Given the description of an element on the screen output the (x, y) to click on. 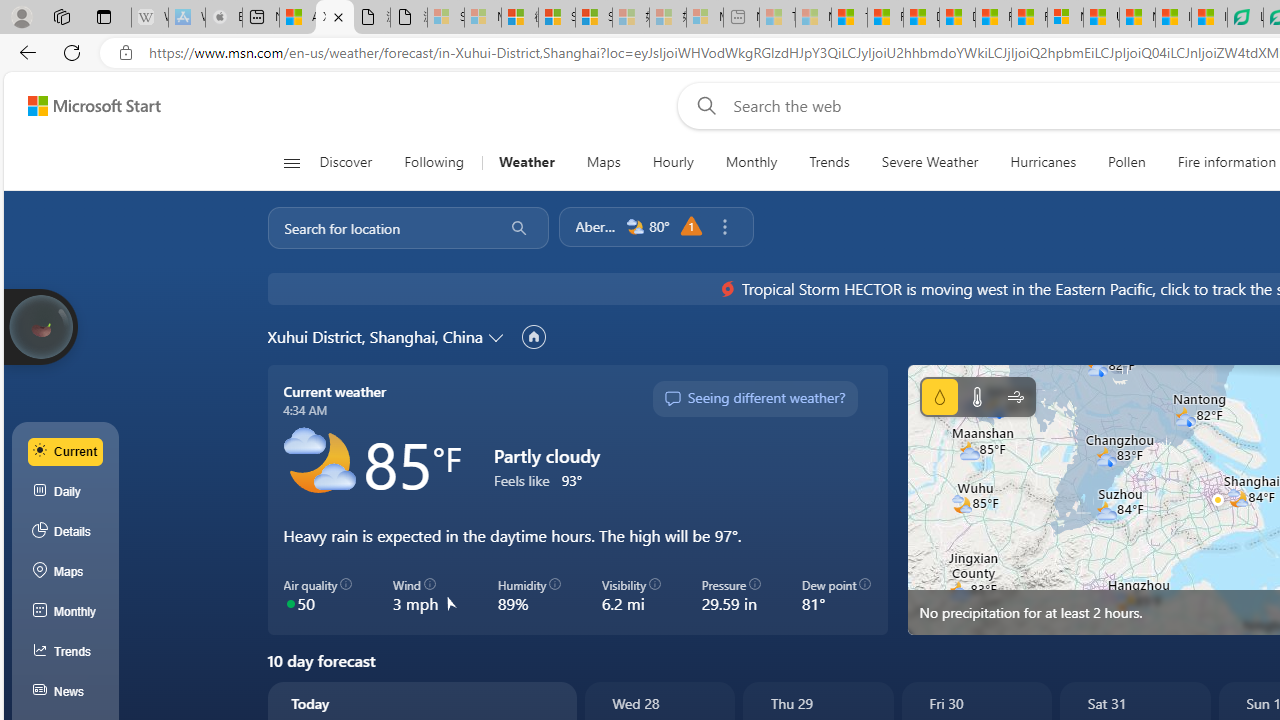
Join us in planting real trees to help our planet! (40, 327)
